Given the description of an element on the screen output the (x, y) to click on. 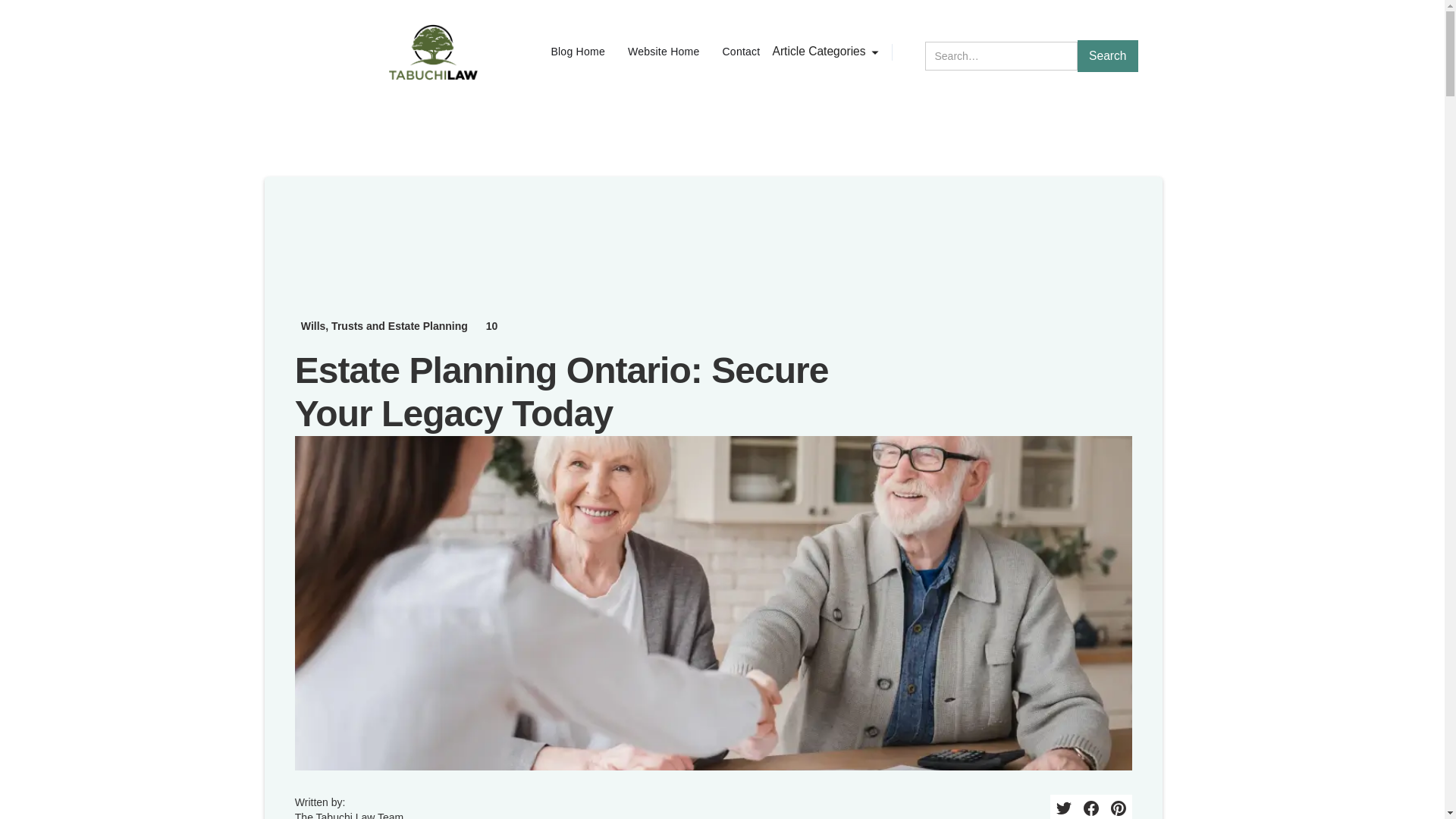
Facebook icon (1091, 806)
Facebook icon (1091, 809)
Blog Home (577, 51)
Website Home (663, 51)
Twitter icon (1063, 806)
Contact (740, 51)
Twitter icon (1064, 809)
Search (1107, 56)
All Posts (317, 263)
Search (1107, 56)
Wills, Trusts and Estate Planning (384, 325)
Search (1107, 56)
